Given the description of an element on the screen output the (x, y) to click on. 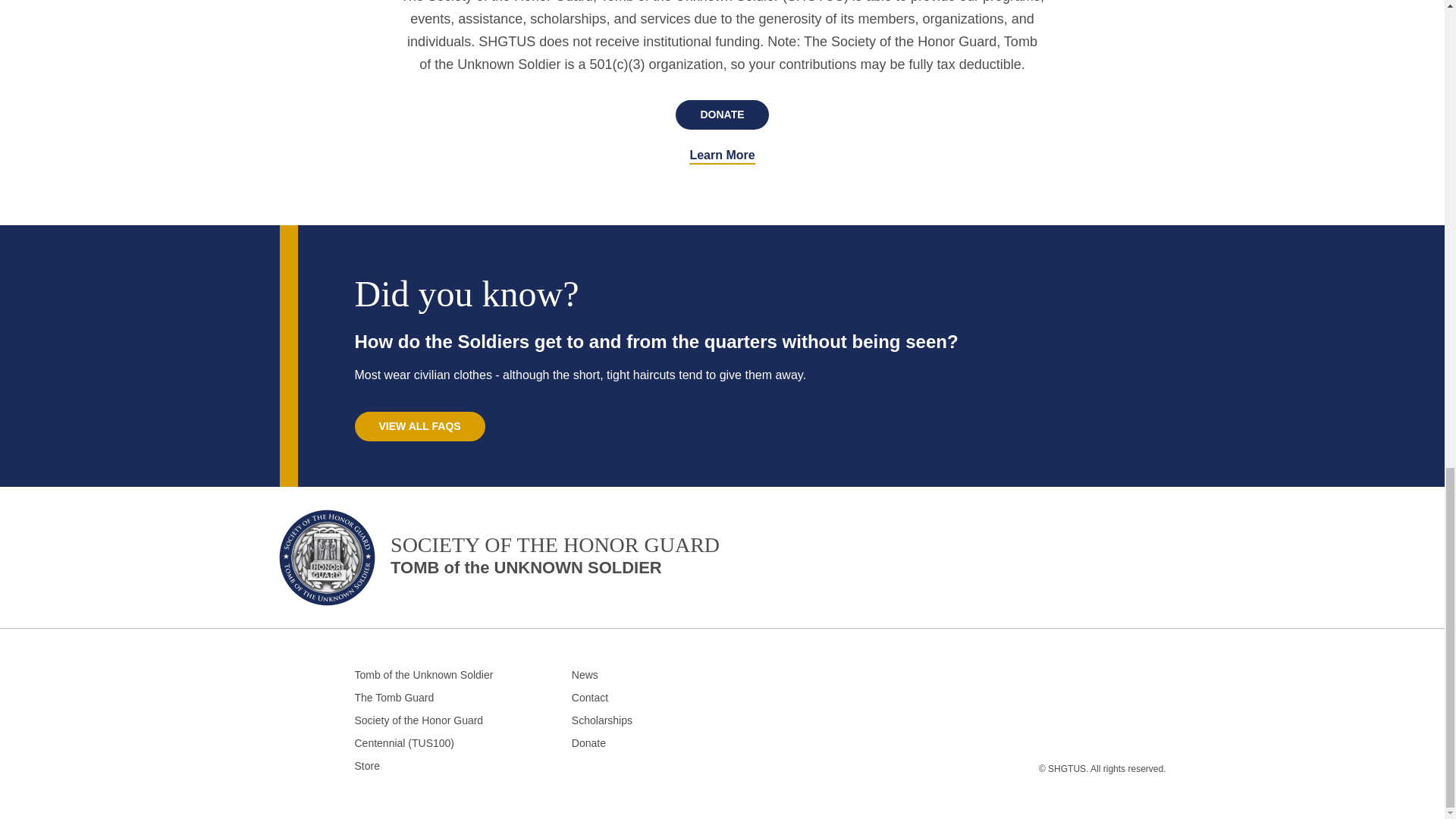
Learn More (721, 156)
Scholarships (641, 720)
Store (463, 765)
The Tomb Guard (463, 697)
Society of the Honor Guard (463, 720)
DONATE (499, 562)
Tomb of the Unknown Soldier (721, 114)
Contact (463, 674)
News (641, 697)
VIEW ALL FAQS (641, 674)
Donate (419, 426)
